Given the description of an element on the screen output the (x, y) to click on. 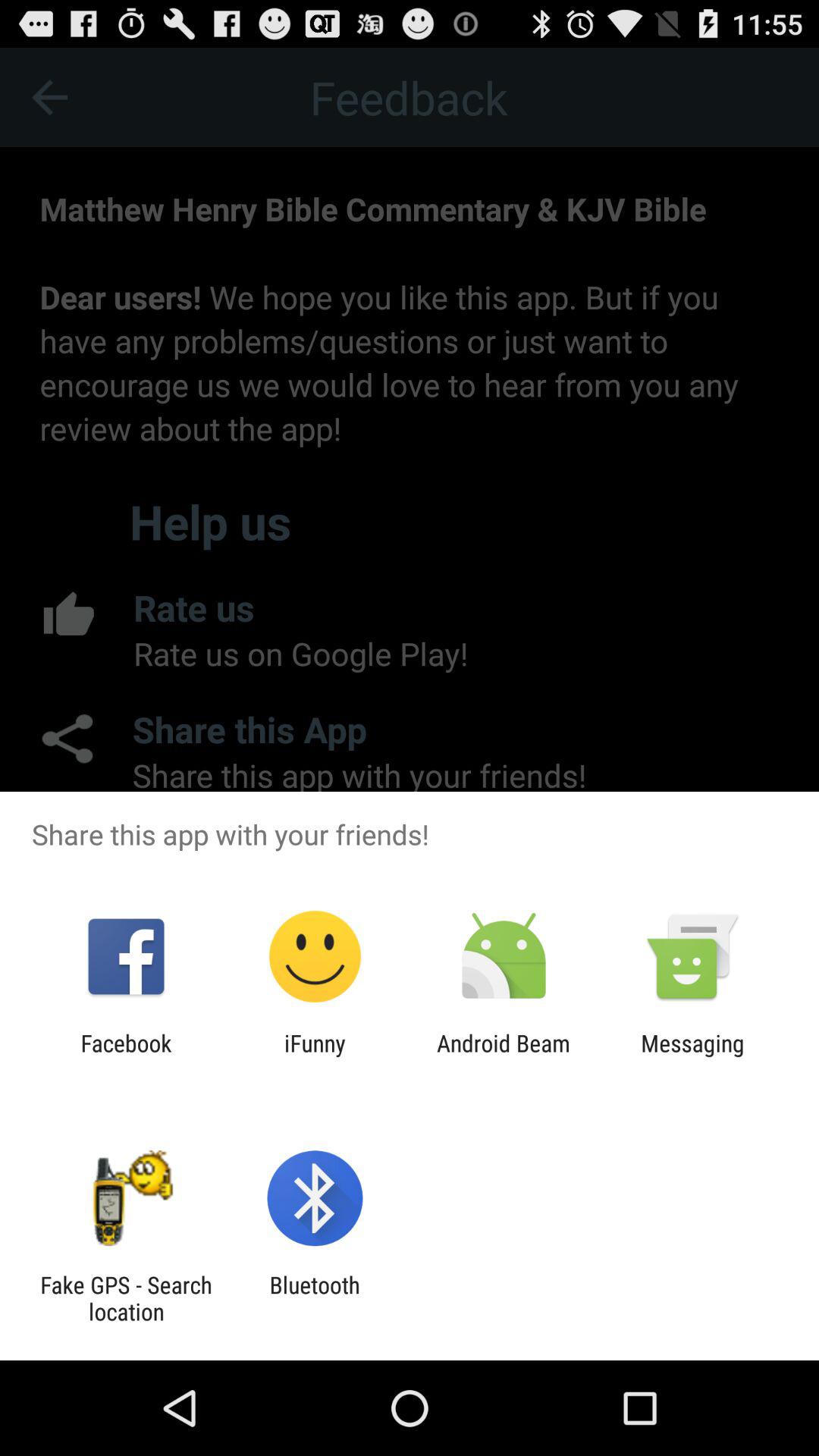
select the item to the right of the android beam item (692, 1056)
